Given the description of an element on the screen output the (x, y) to click on. 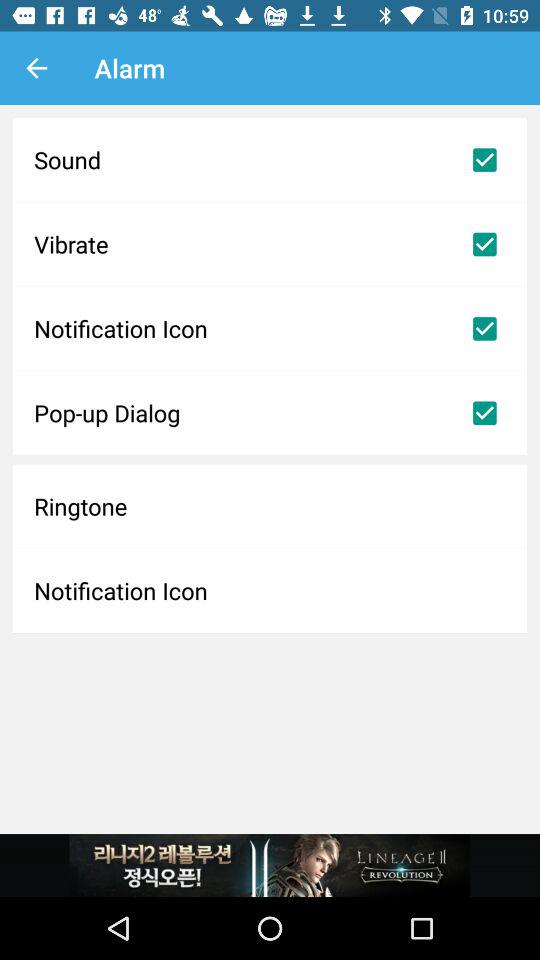
flip until the vibrate icon (269, 244)
